Given the description of an element on the screen output the (x, y) to click on. 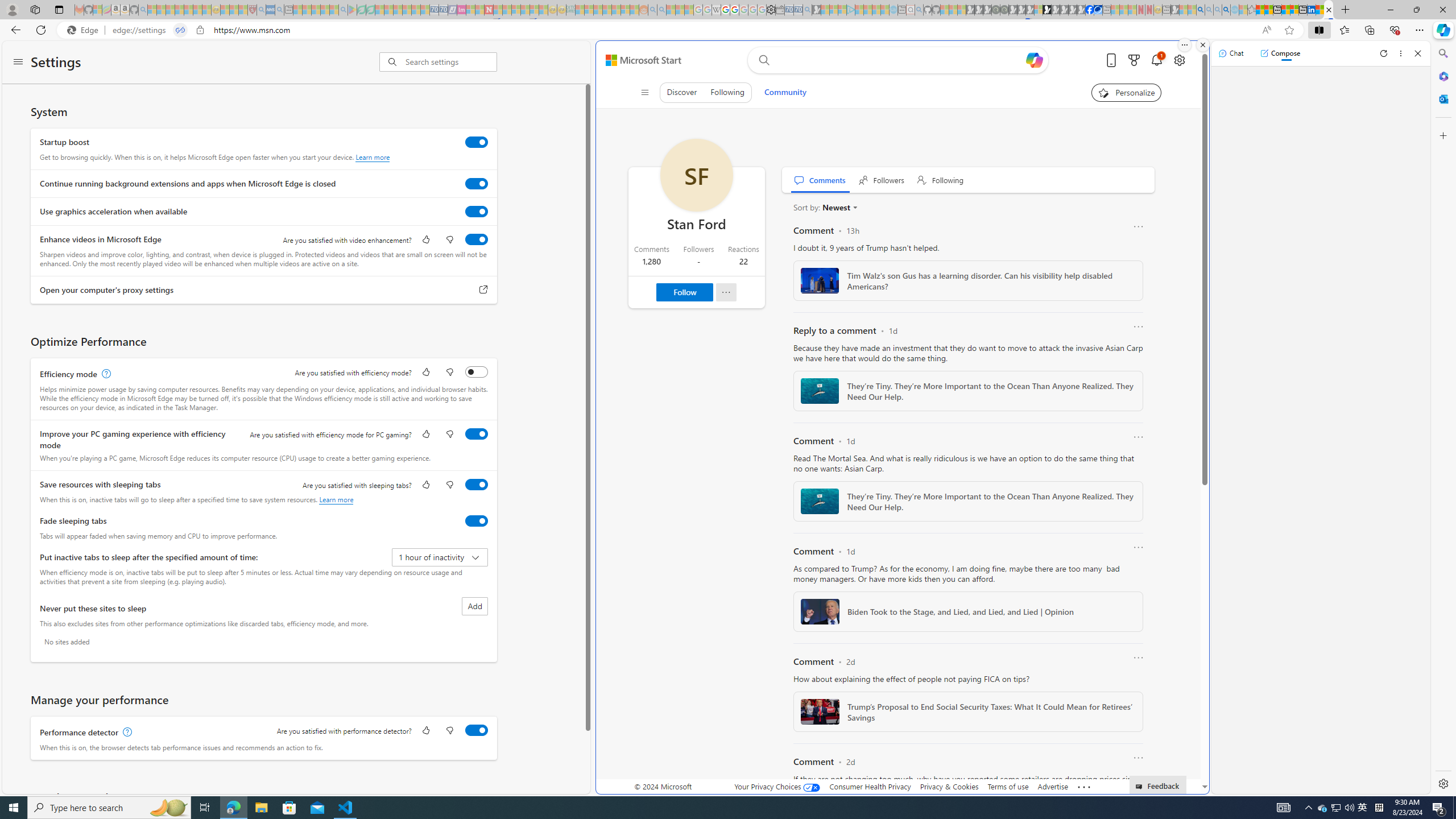
Content thumbnail (820, 711)
Stan Ford | Trusted Community Engagement and Contributions (1328, 9)
Close split screen. (1202, 45)
Save resources with sleeping tabs (476, 484)
Enhance videos in Microsoft Edge (476, 238)
